Given the description of an element on the screen output the (x, y) to click on. 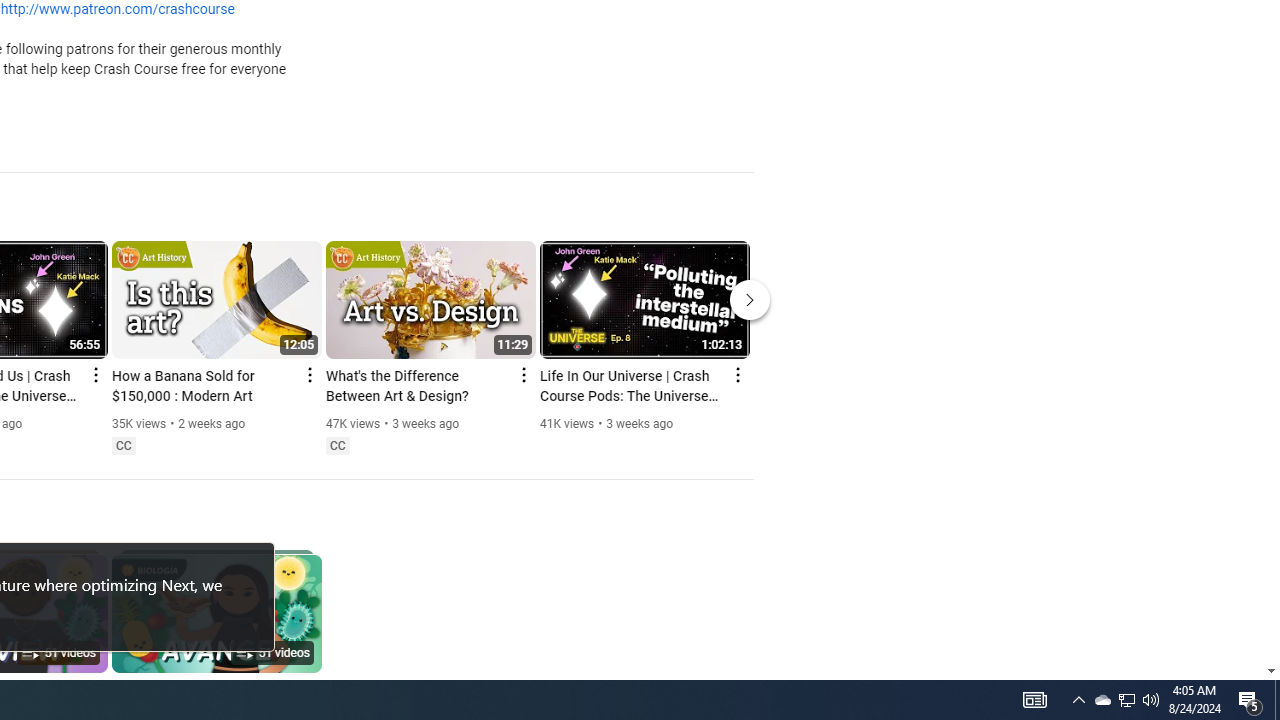
Closed captions (337, 446)
Action menu (736, 374)
http://www.patreon.com/crashcourse (117, 10)
